Given the description of an element on the screen output the (x, y) to click on. 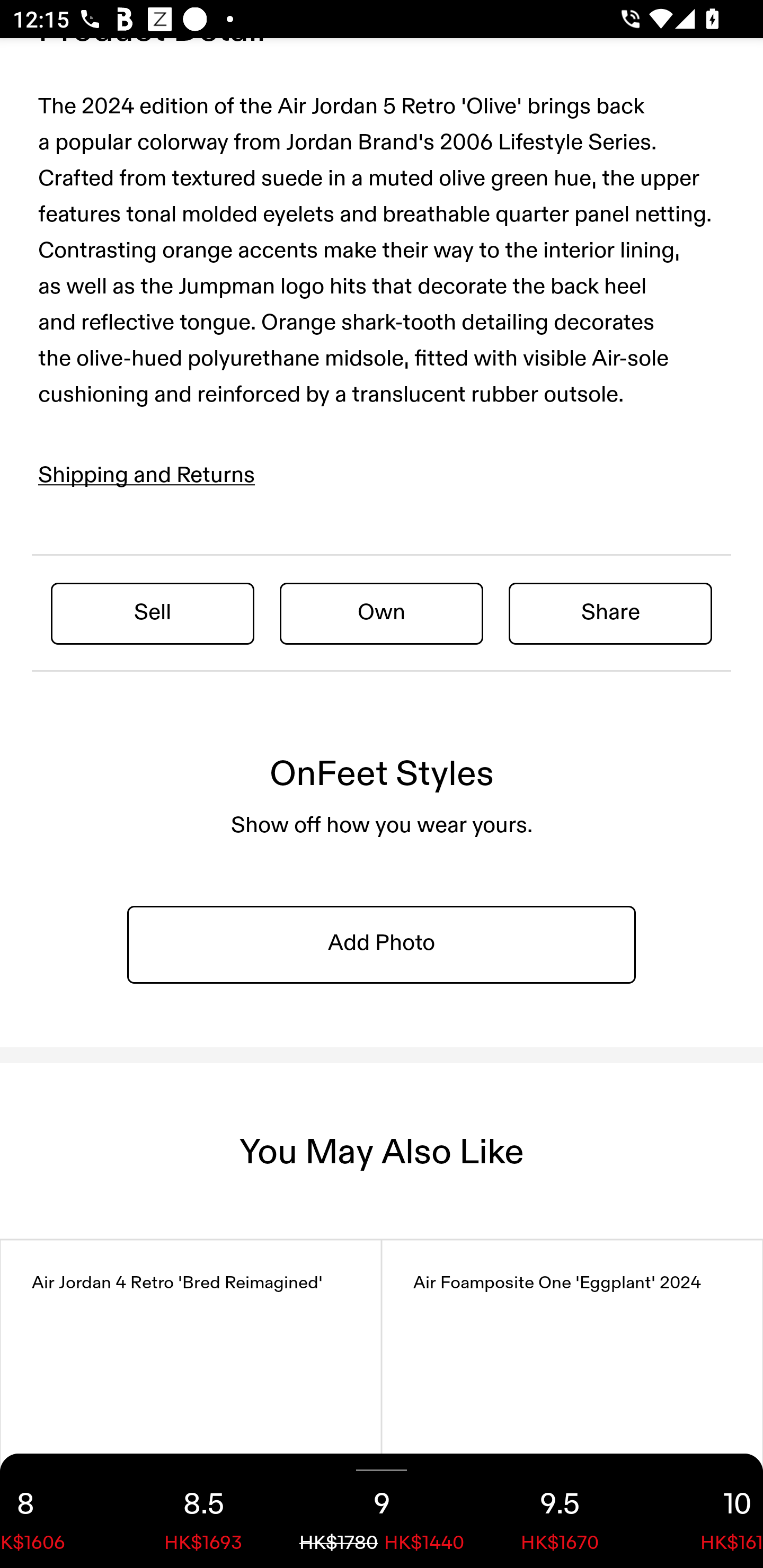
Shipping and Returns (146, 475)
Sell (152, 612)
Own (381, 612)
Share (609, 612)
Add Photo (381, 943)
Air Jordan 4 Retro 'Bred Reimagined' (190, 1404)
Air Foamposite One 'Eggplant' 2024 (572, 1404)
8 HK$1606 (57, 1510)
8.5 HK$1693 (203, 1510)
9 HK$1780 HK$1440 (381, 1510)
9.5 HK$1670 (559, 1510)
10 HK$1614 (705, 1510)
